Given the description of an element on the screen output the (x, y) to click on. 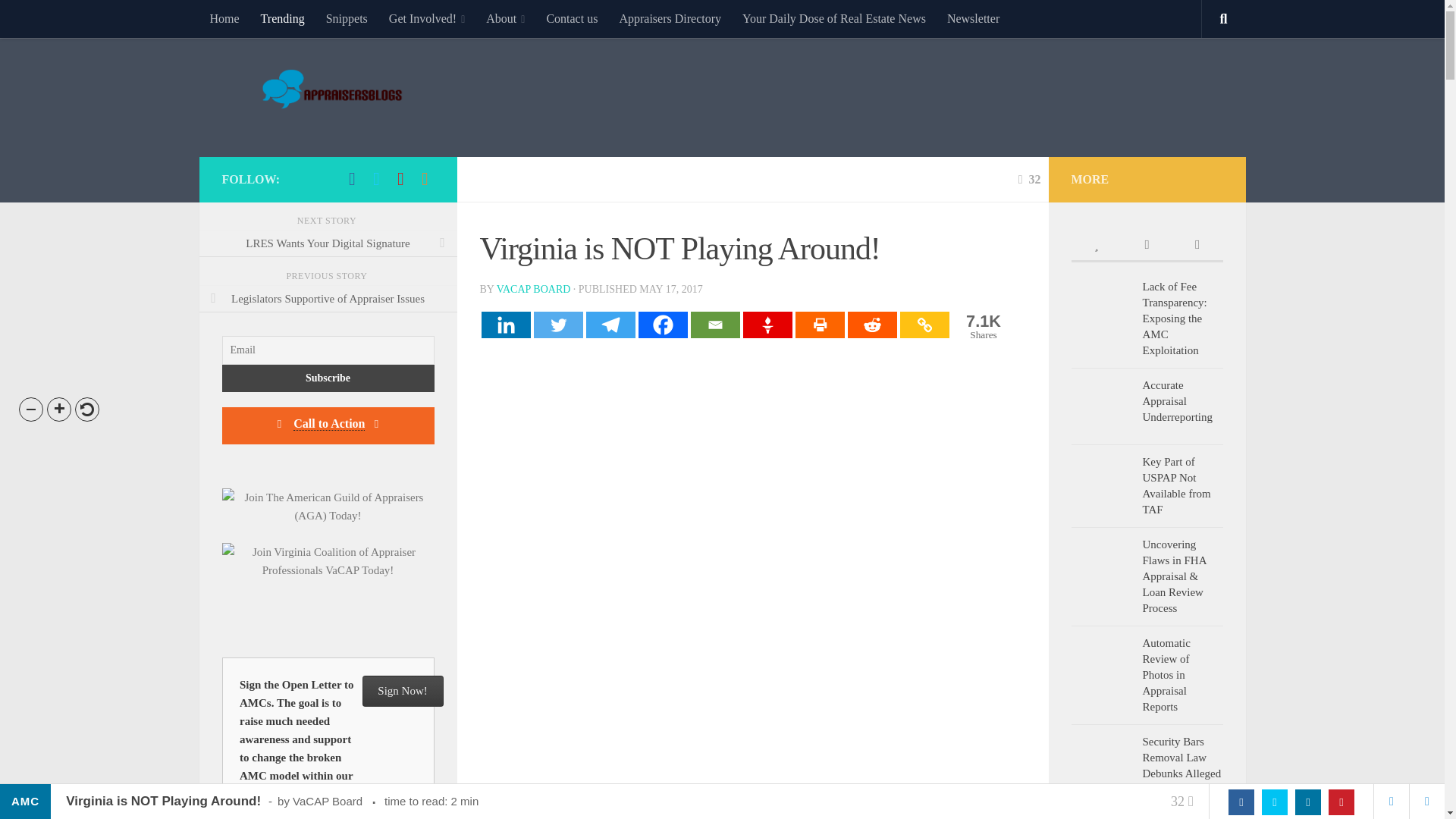
Get Involved! (427, 18)
VACAP BOARD (533, 288)
32 (1029, 178)
Your Daily Dose of Real Estate News (834, 18)
Contact us (571, 18)
Home (223, 18)
Appraisers Directory (981, 326)
Posts by VaCAP Board (670, 18)
Newsletter (533, 288)
